Given the description of an element on the screen output the (x, y) to click on. 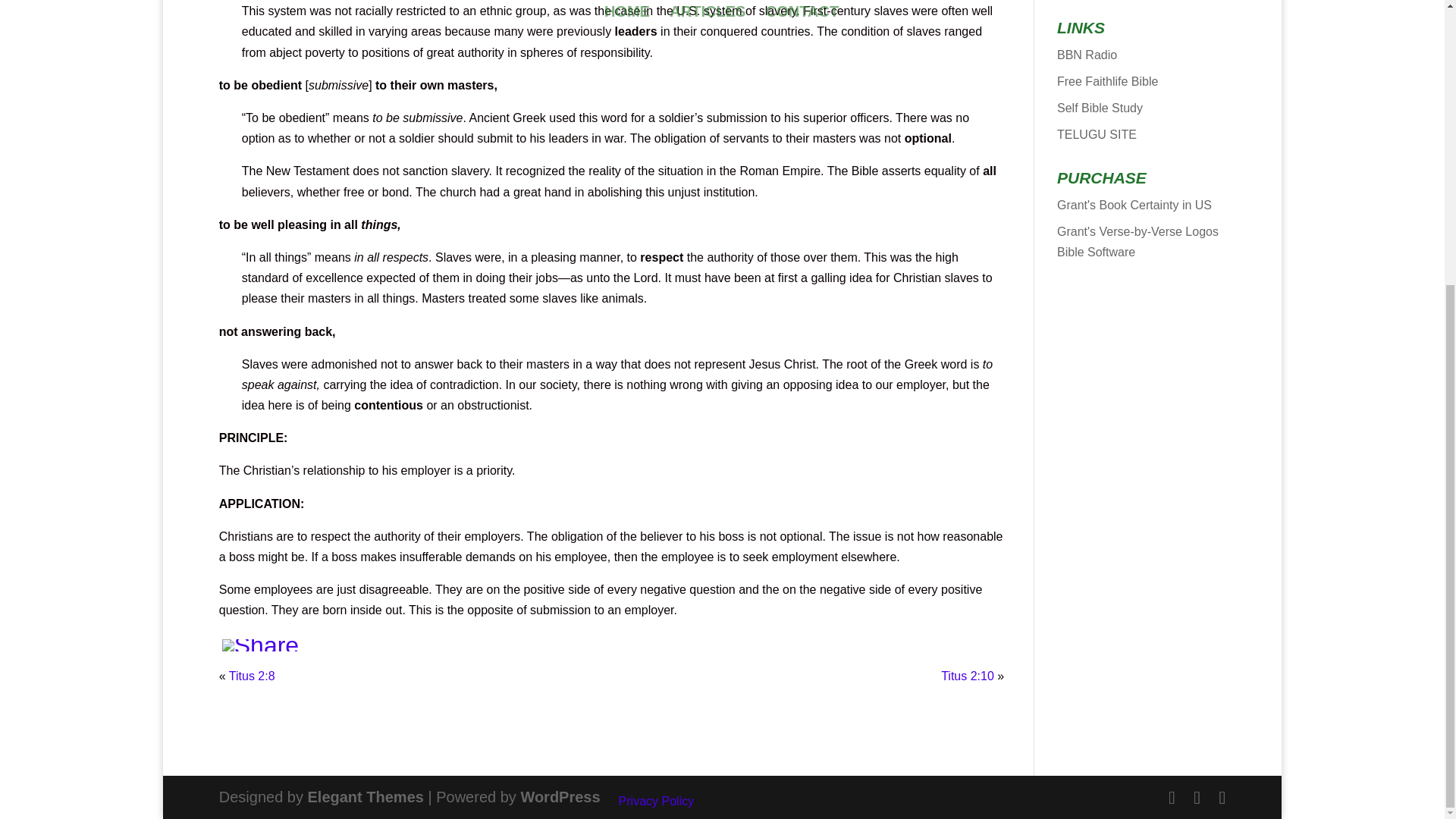
BBN Radio (1086, 54)
Titus 2:8 (251, 675)
Privacy Policy (656, 800)
Self Bible Study (1099, 107)
Grant's Book Certainty in US (1134, 205)
Free Study Bible with many resources (1107, 81)
Elegant Themes (365, 796)
Videos on the Bible (1086, 54)
Titus 2:10 (967, 675)
TELUGU SITE (1097, 133)
Premium WordPress Themes (365, 796)
Privacy Policy (656, 800)
WordPress (559, 796)
Free Faithlife Bible (1107, 81)
Grant's Verse-by-Verse Logos Bible Software (1137, 241)
